Given the description of an element on the screen output the (x, y) to click on. 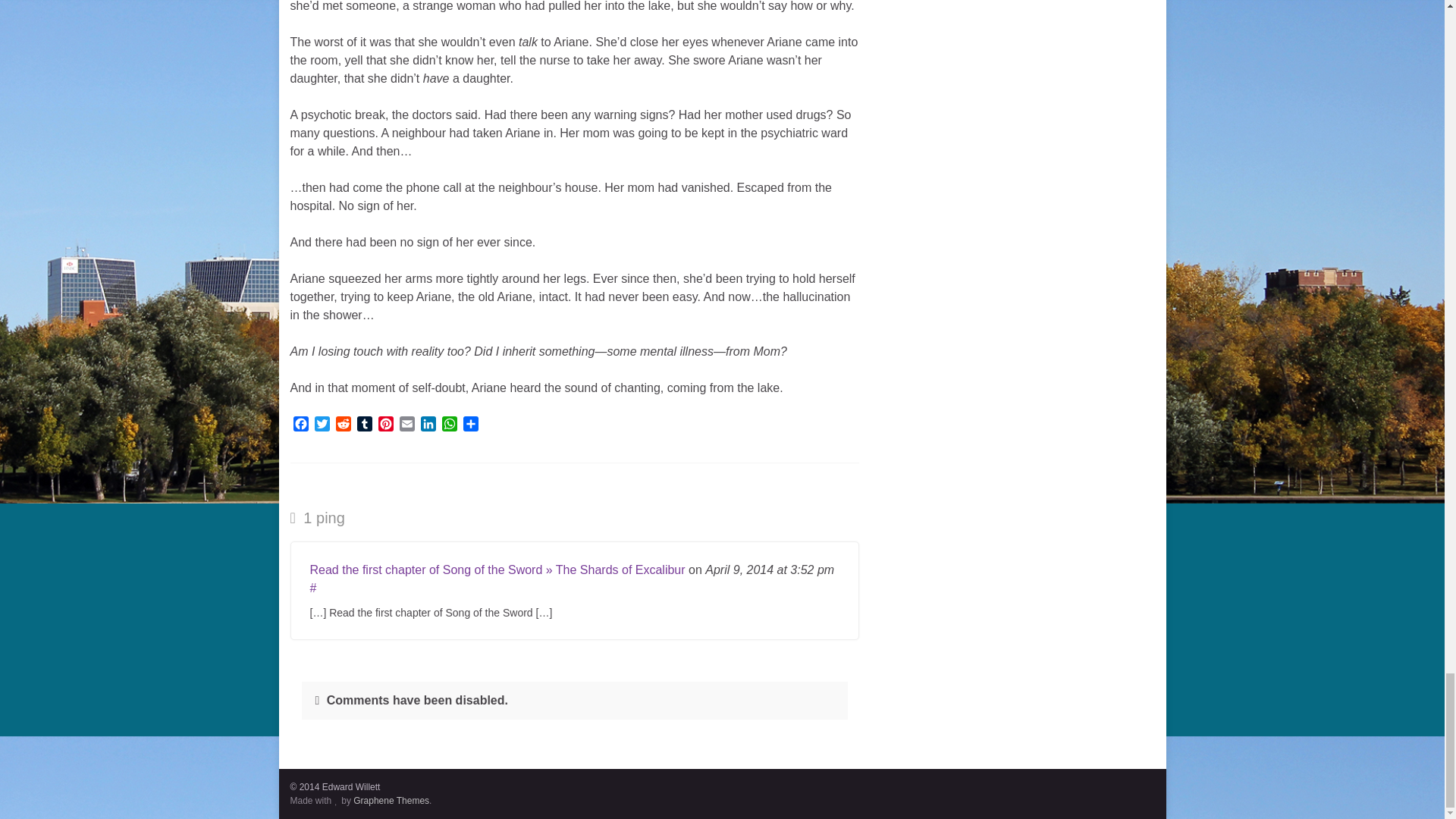
Tumblr (363, 425)
LinkedIn (427, 425)
Twitter (321, 425)
Share (470, 425)
Pinterest (385, 425)
Facebook (300, 425)
Reddit (342, 425)
1 ping (316, 517)
Reddit (342, 425)
WhatsApp (449, 425)
